Given the description of an element on the screen output the (x, y) to click on. 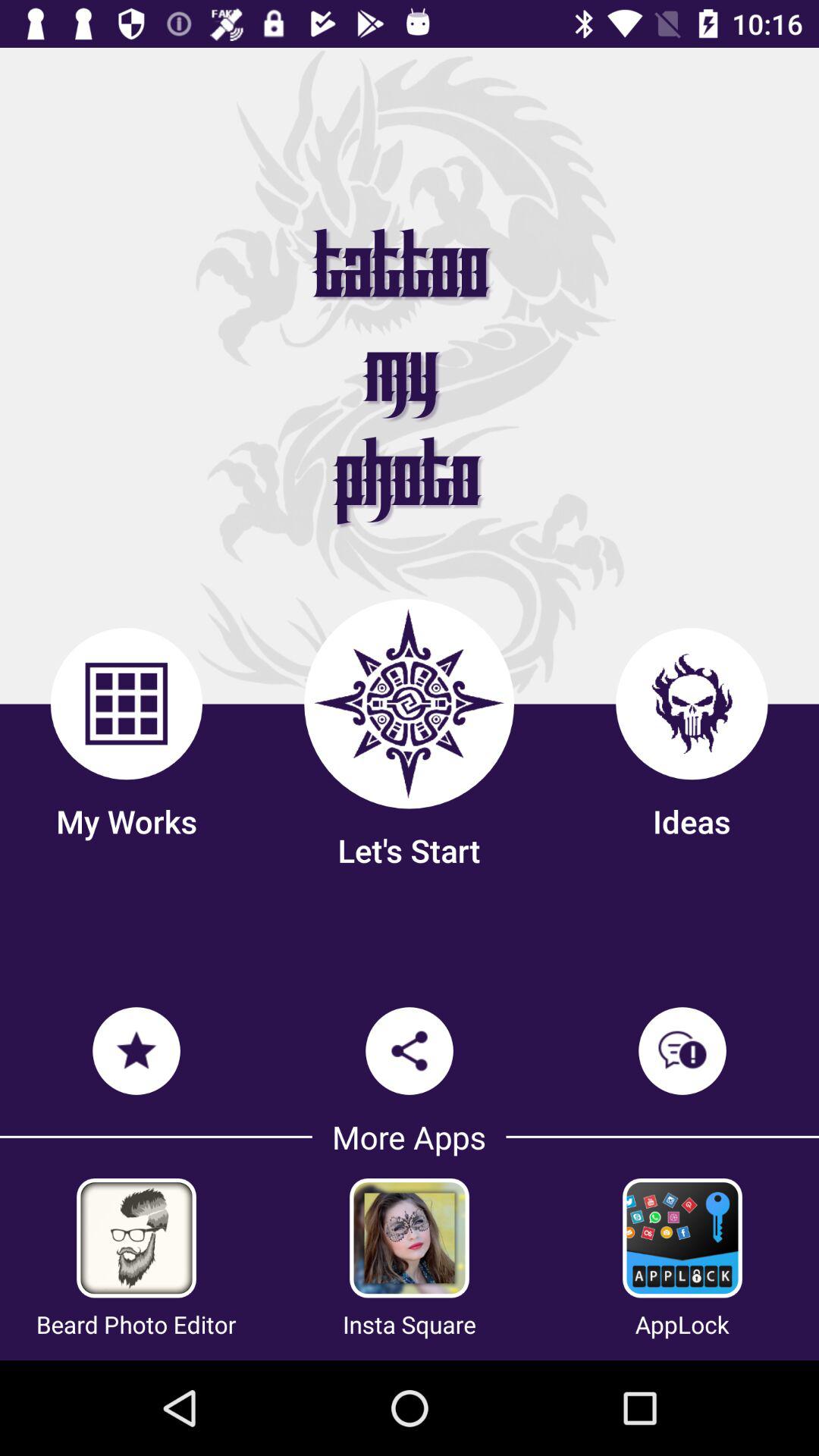
open applock app (682, 1237)
